Given the description of an element on the screen output the (x, y) to click on. 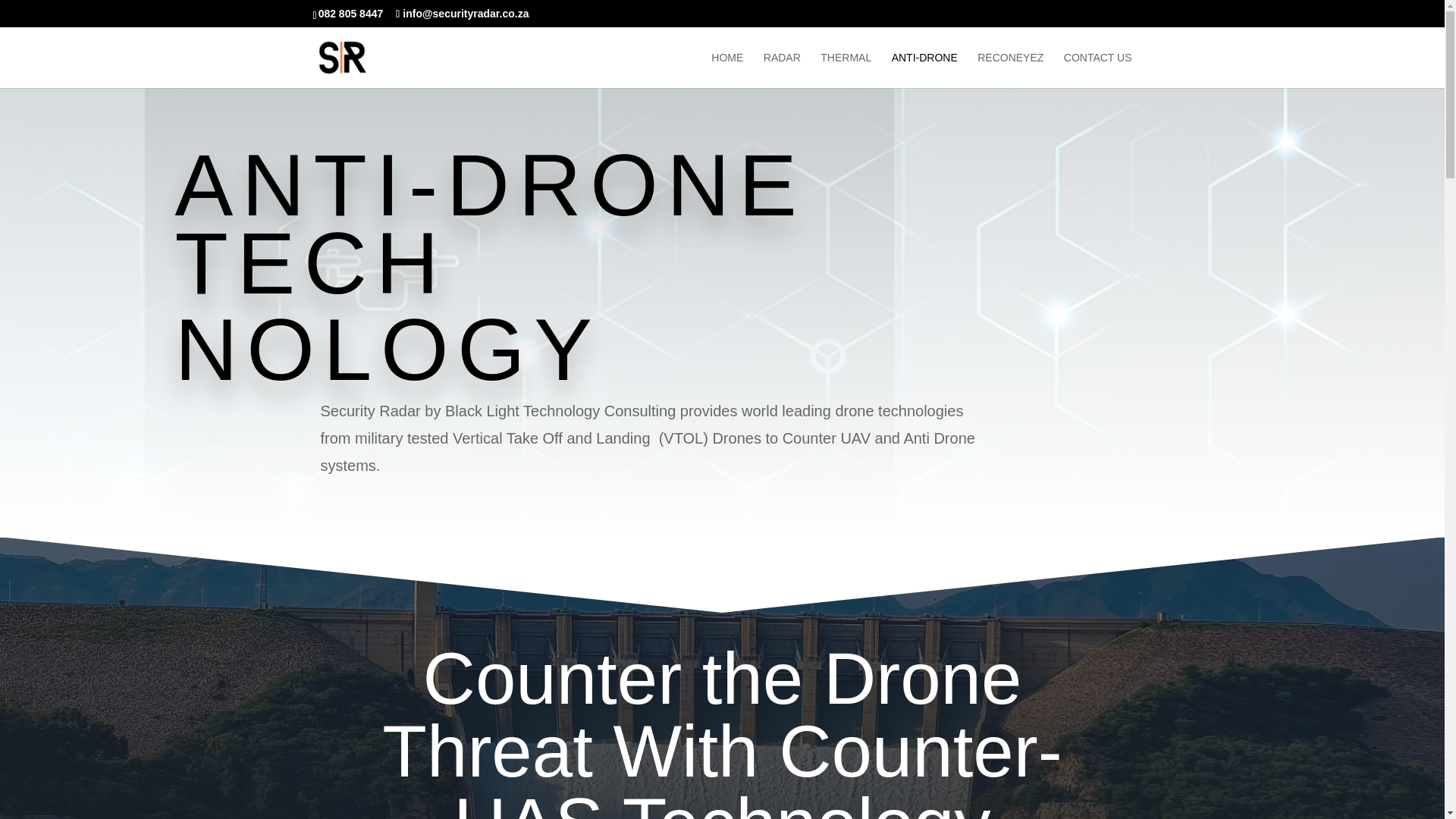
RECONEYEZ (1009, 69)
CONTACT US (1098, 69)
RADAR (781, 69)
HOME (726, 69)
THERMAL (845, 69)
ANTI-DRONE (924, 69)
